Given the description of an element on the screen output the (x, y) to click on. 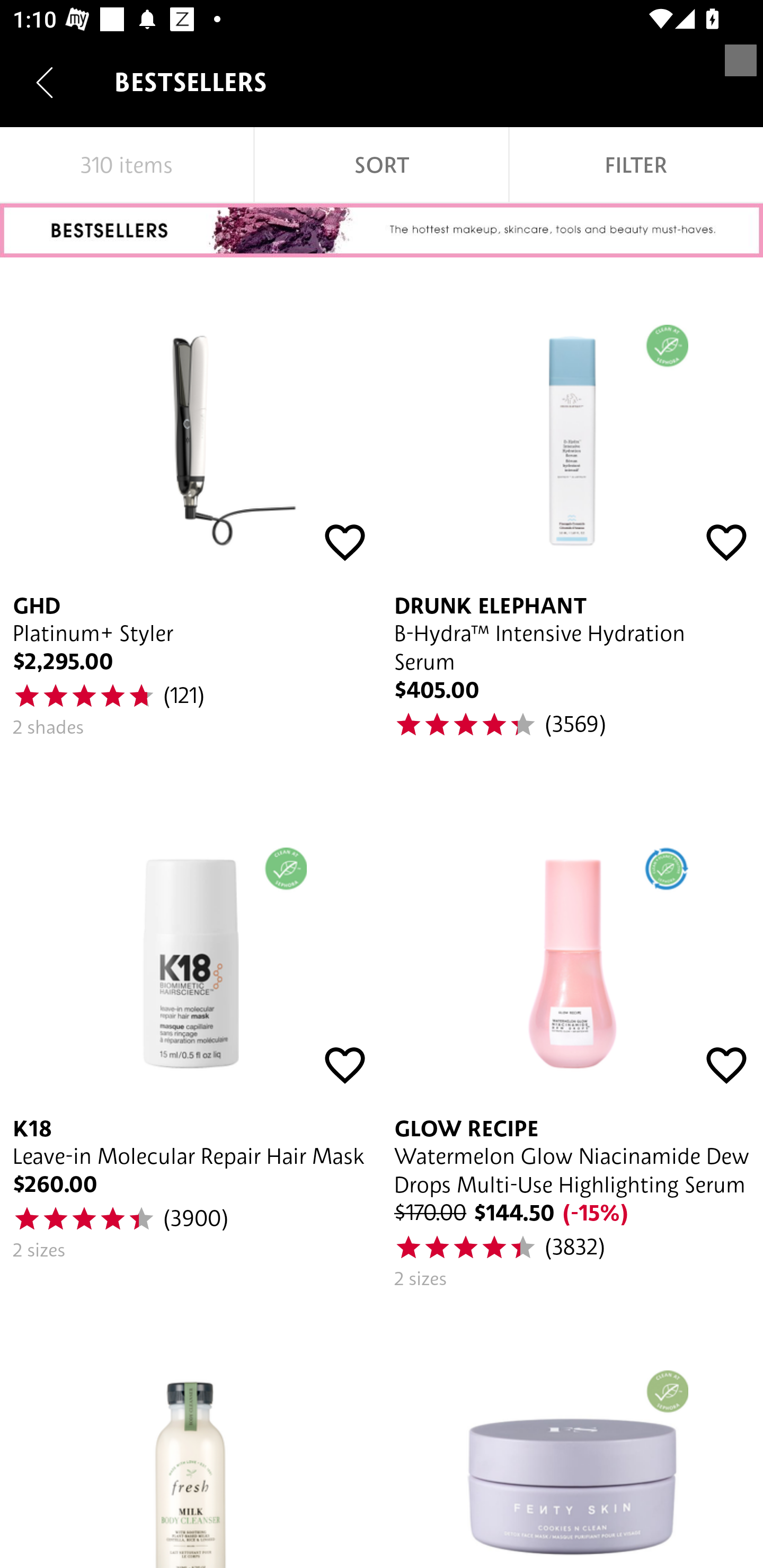
Navigate up (44, 82)
SORT (381, 165)
FILTER (636, 165)
GHD Platinum+ Styler $2,295.00 47.0 (121) 2 shades (190, 518)
